Given the description of an element on the screen output the (x, y) to click on. 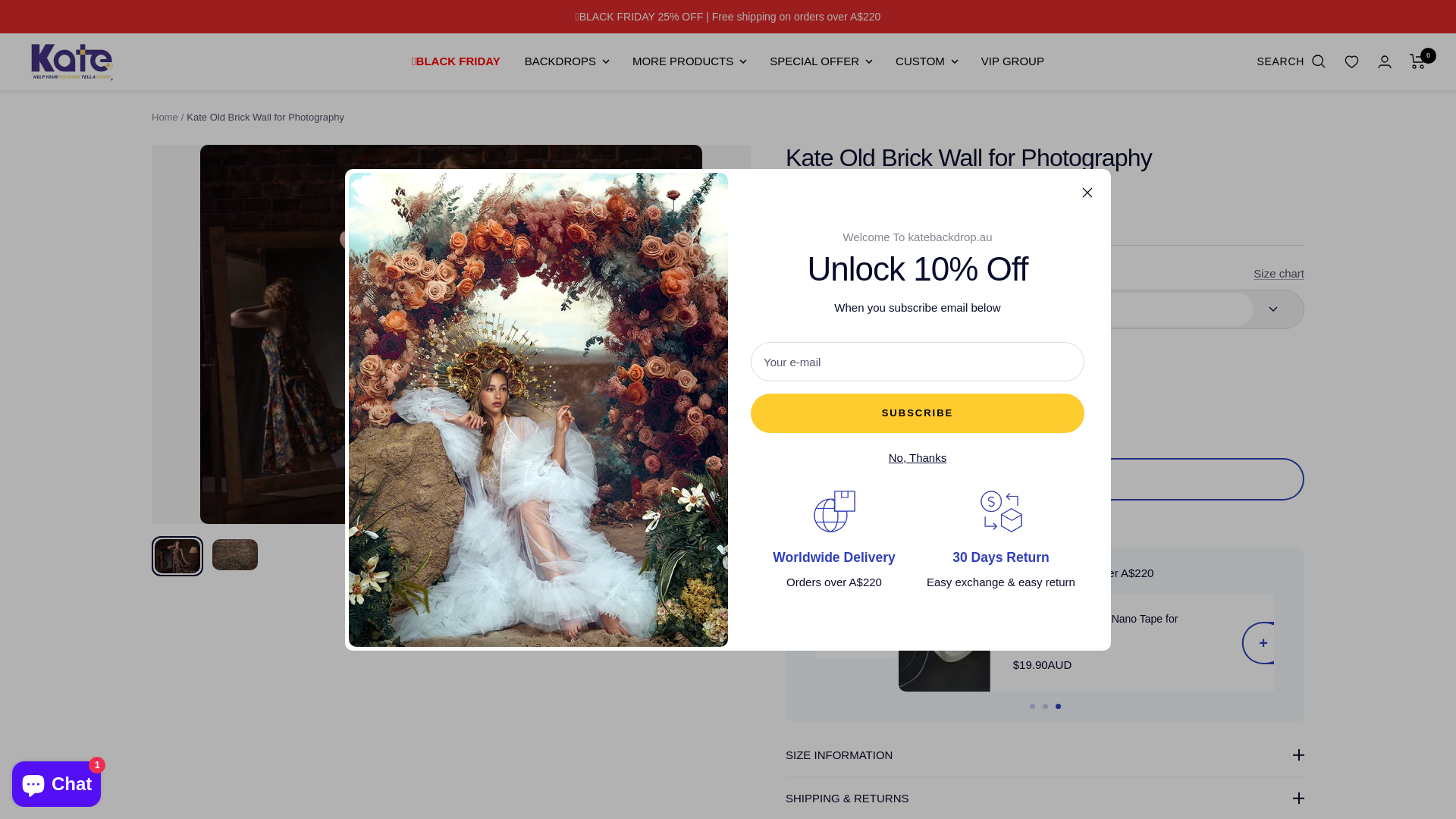
Home Element type: text (164, 116)
 (1) Element type: text (1044, 524)
MORE PRODUCTS Element type: text (688, 61)
SUBSCRIBE Element type: text (917, 413)
10x6.5ft(3x2m) Element type: text (1039, 382)
20x10ft(6x3m) Element type: text (1039, 542)
10x10ft(3x3m) Element type: text (1039, 478)
ADD TO CART Element type: text (1044, 479)
Zoom Element type: text (724, 497)
Increase quantity Element type: text (873, 413)
Which size should I choose? Element type: text (868, 346)
CUSTOM Element type: text (926, 61)
0 Element type: text (1417, 61)
Decrease quantity Element type: text (802, 413)
+ Element type: text (1198, 642)
8.2x8.2ft(2.5x2.5m) Element type: text (1039, 573)
custom size(please contact seller) Element type: text (1039, 510)
SEARCH Element type: text (1290, 61)
5x3ft(1.5x1m) Element type: text (1039, 351)
SPECIAL OFFER Element type: text (820, 61)
Shopify online store chat Element type: hover (56, 780)
Close Element type: hover (1087, 191)
10x6.5ft(3x2m) Element type: text (1059, 791)
katebackdrop AU Element type: text (71, 61)
VIP GROUP Element type: text (1012, 61)
7x5ft(2.2x1.5m) Element type: text (1039, 414)
6.5x6.5ft(2x2m) Element type: text (1039, 446)
BACKDROPS Element type: text (566, 61)
5x3ft(1.5x1m) Element type: text (1044, 309)
No, Thanks Element type: text (917, 457)
Size chart Element type: text (1278, 273)
5x3ft(1.5x1m) Element type: text (1059, 759)
